Given the description of an element on the screen output the (x, y) to click on. 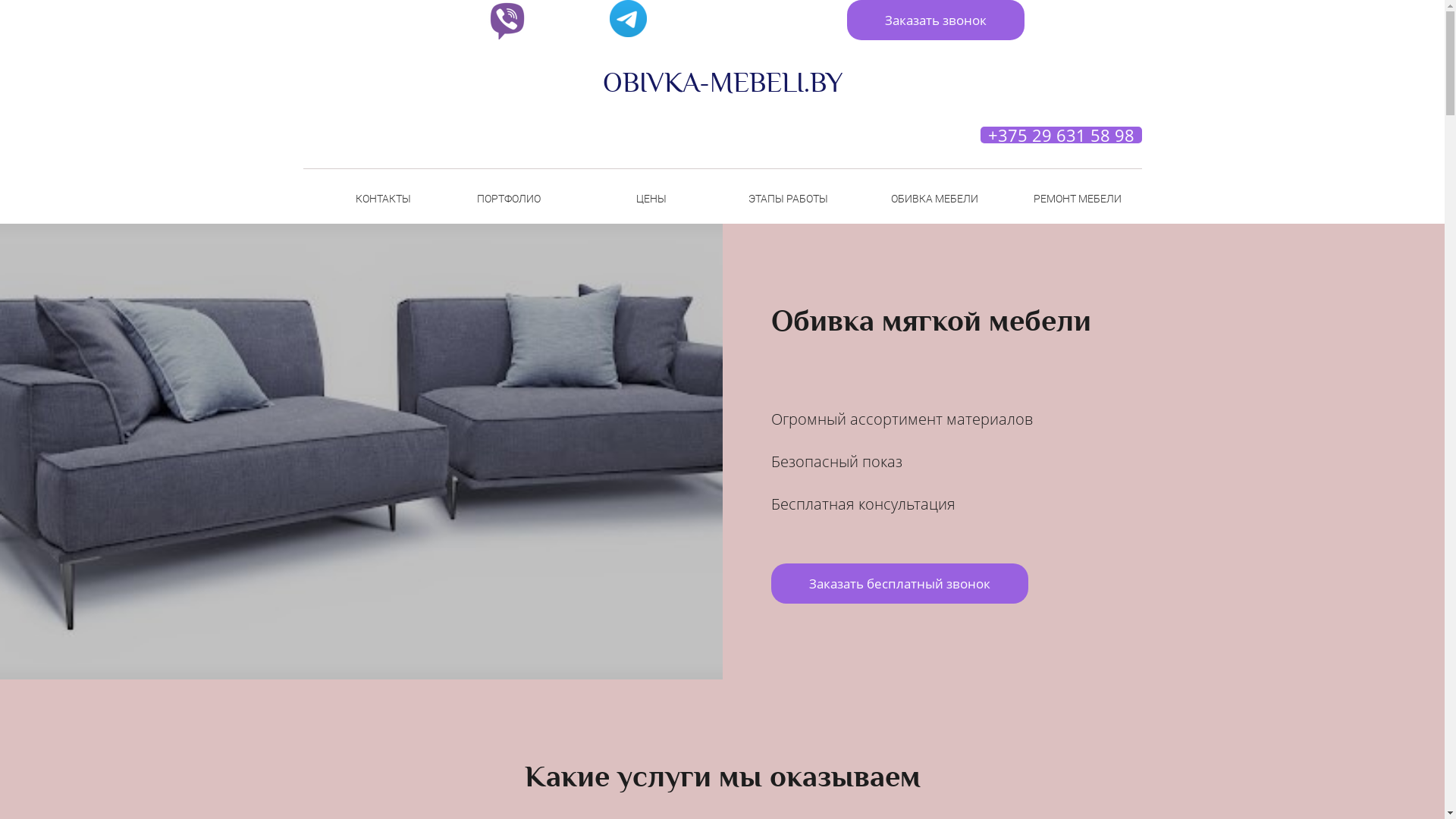
+375 29 631 58 98 Element type: text (1060, 134)
OBIVKA-MEBELI.BY Element type: text (722, 82)
